Given the description of an element on the screen output the (x, y) to click on. 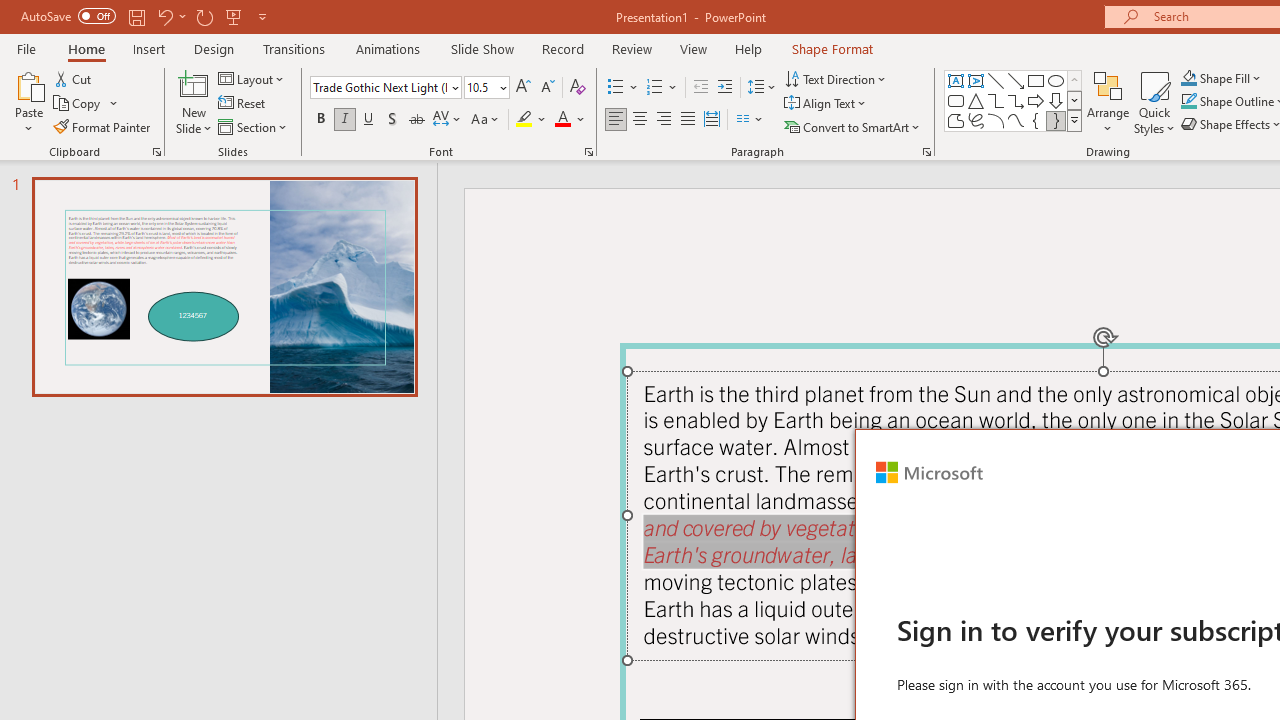
Shape Fill Aqua, Accent 2 (1188, 78)
